Given the description of an element on the screen output the (x, y) to click on. 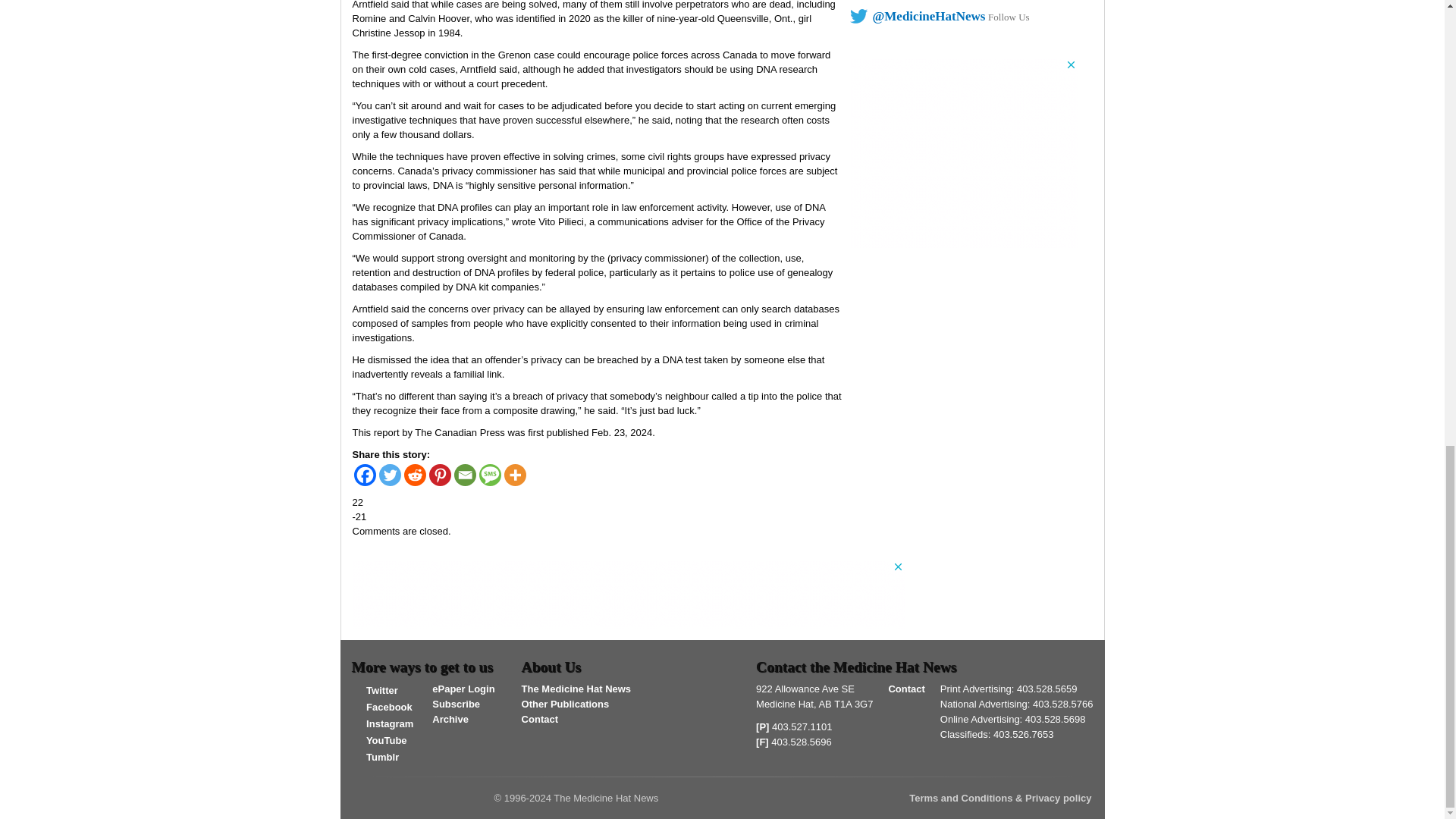
SMS (489, 475)
3rd party ad content (628, 594)
More (514, 475)
Pinterest (440, 475)
3rd party ad content (962, 153)
Email (464, 475)
Reddit (414, 475)
Twitter (389, 475)
Facebook (364, 475)
